Given the description of an element on the screen output the (x, y) to click on. 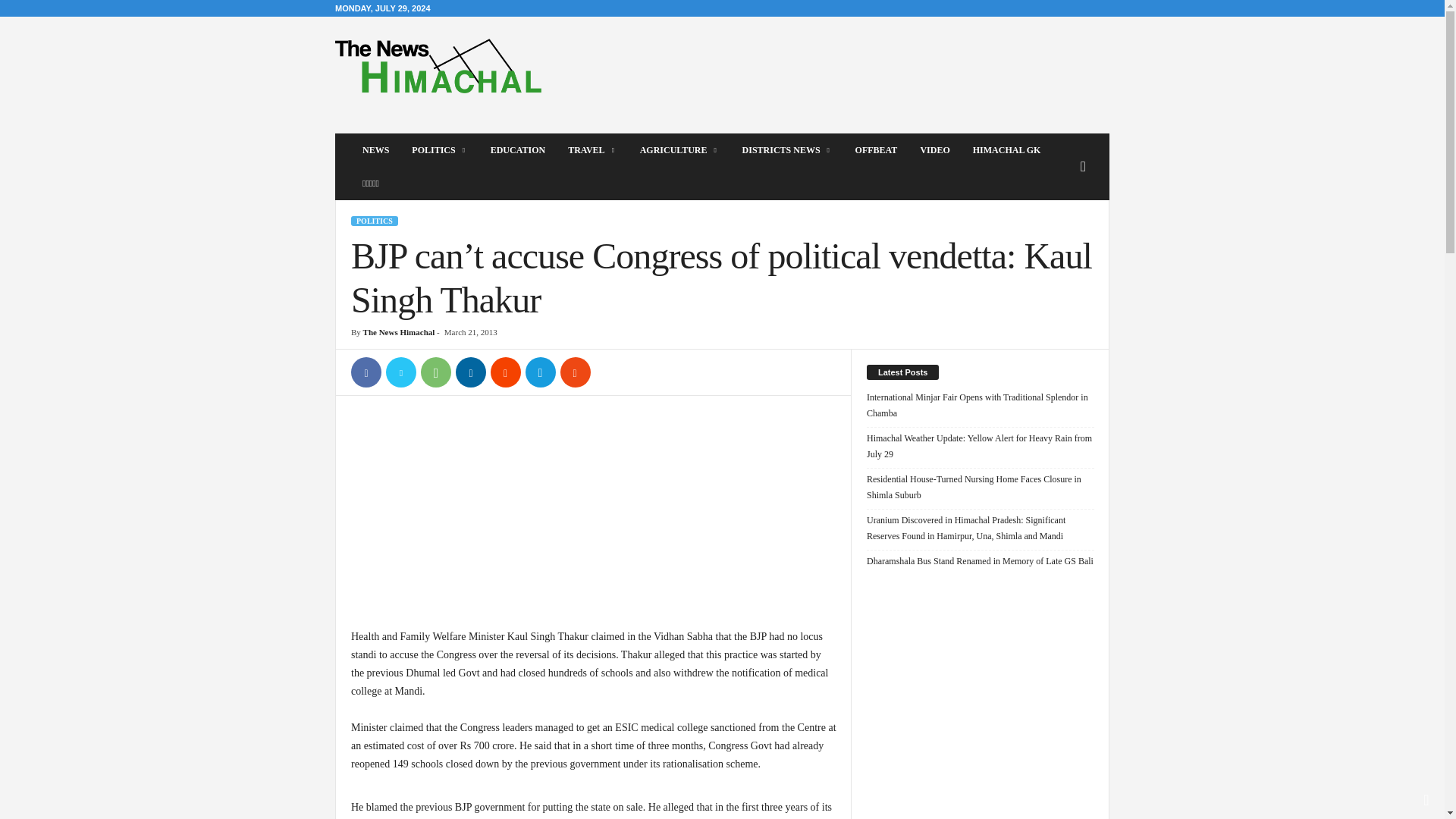
NEWS (375, 150)
ReddIt (505, 372)
AGRICULTURE (679, 150)
Linkedin (470, 372)
The News Himachal (437, 65)
WhatsApp (435, 372)
Telegram (540, 372)
POLITICS (439, 150)
Facebook (365, 372)
EDUCATION (517, 150)
Twitter (400, 372)
Mix (575, 372)
DISTRICTS NEWS (787, 150)
TRAVEL (591, 150)
The News Himachal (437, 65)
